Given the description of an element on the screen output the (x, y) to click on. 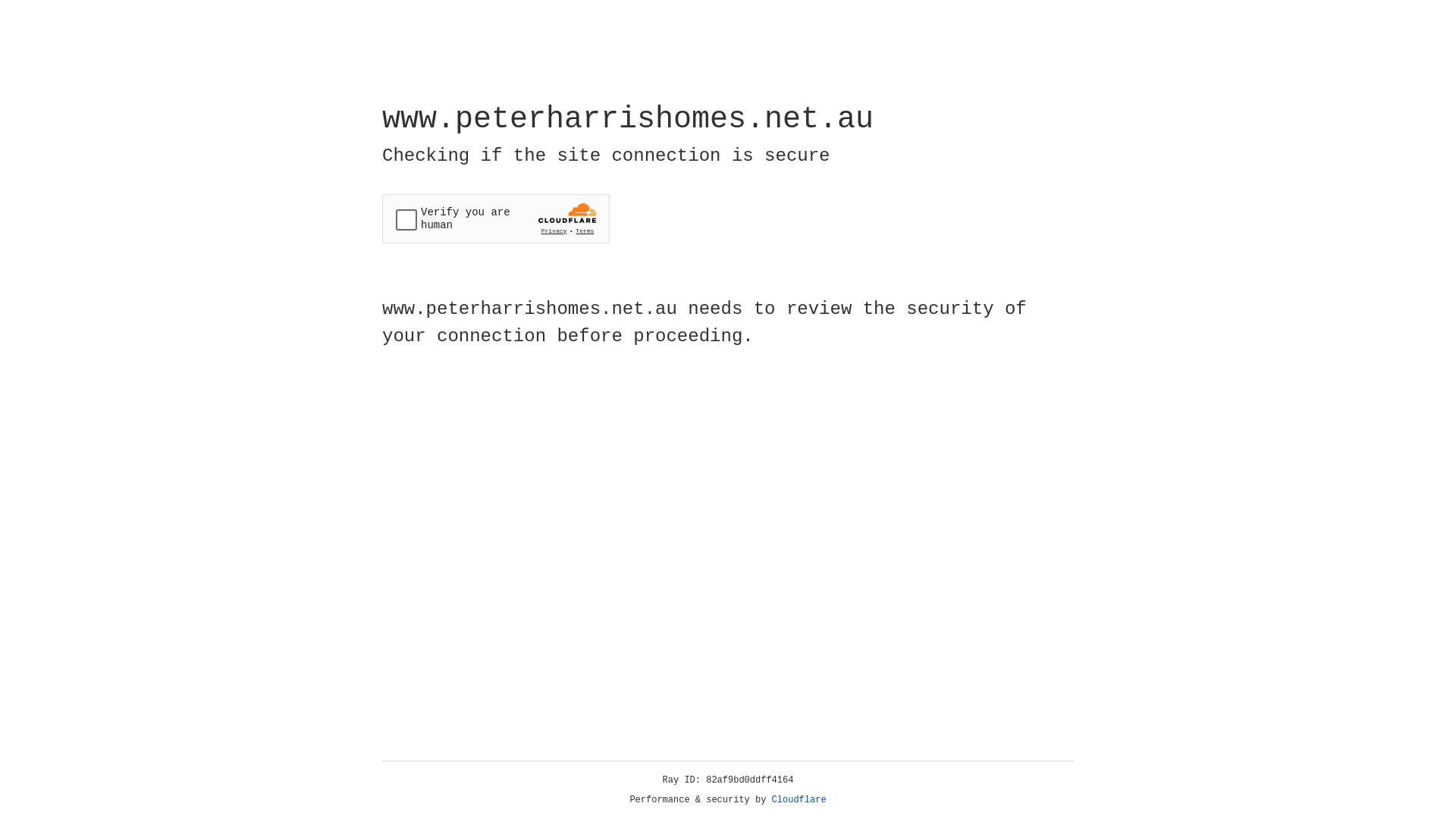
Widget containing a Cloudflare security challenge Element type: hover (495, 218)
Cloudflare Element type: text (798, 799)
